Given the description of an element on the screen output the (x, y) to click on. 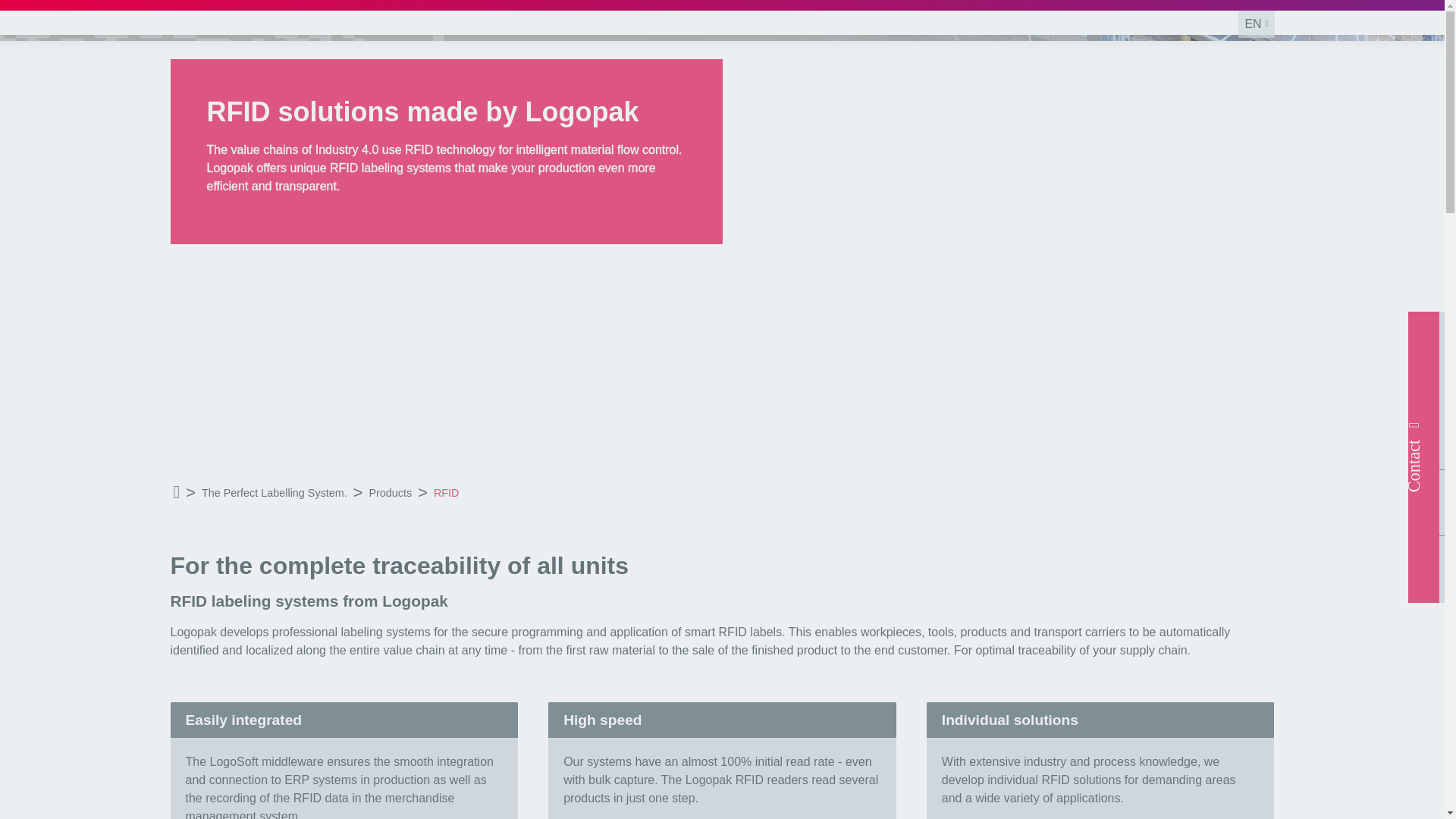
EN (1256, 23)
The Perfect Labelling System. (274, 493)
RFID (446, 493)
Products (390, 493)
